Given the description of an element on the screen output the (x, y) to click on. 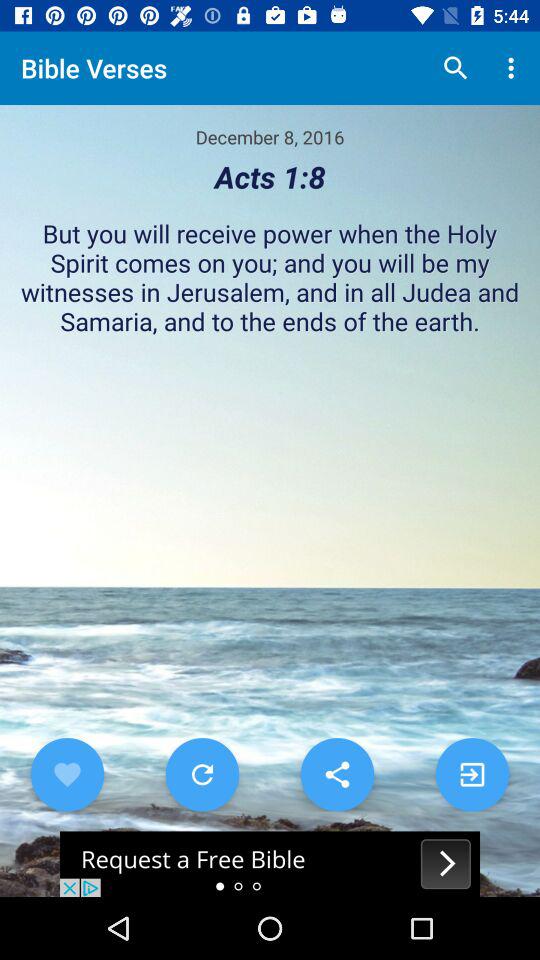
next (472, 774)
